Given the description of an element on the screen output the (x, y) to click on. 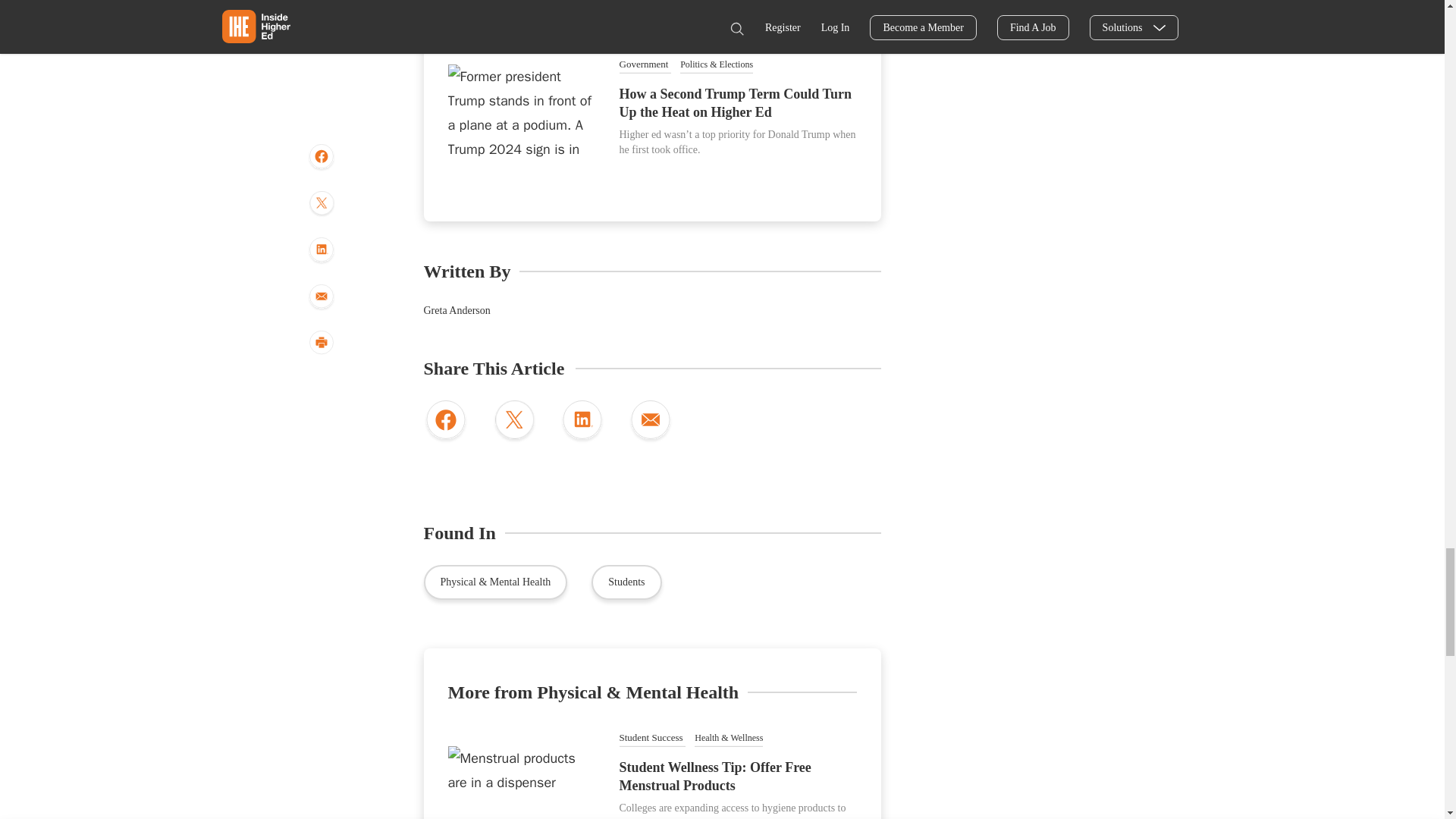
share to facebook (445, 421)
